Given the description of an element on the screen output the (x, y) to click on. 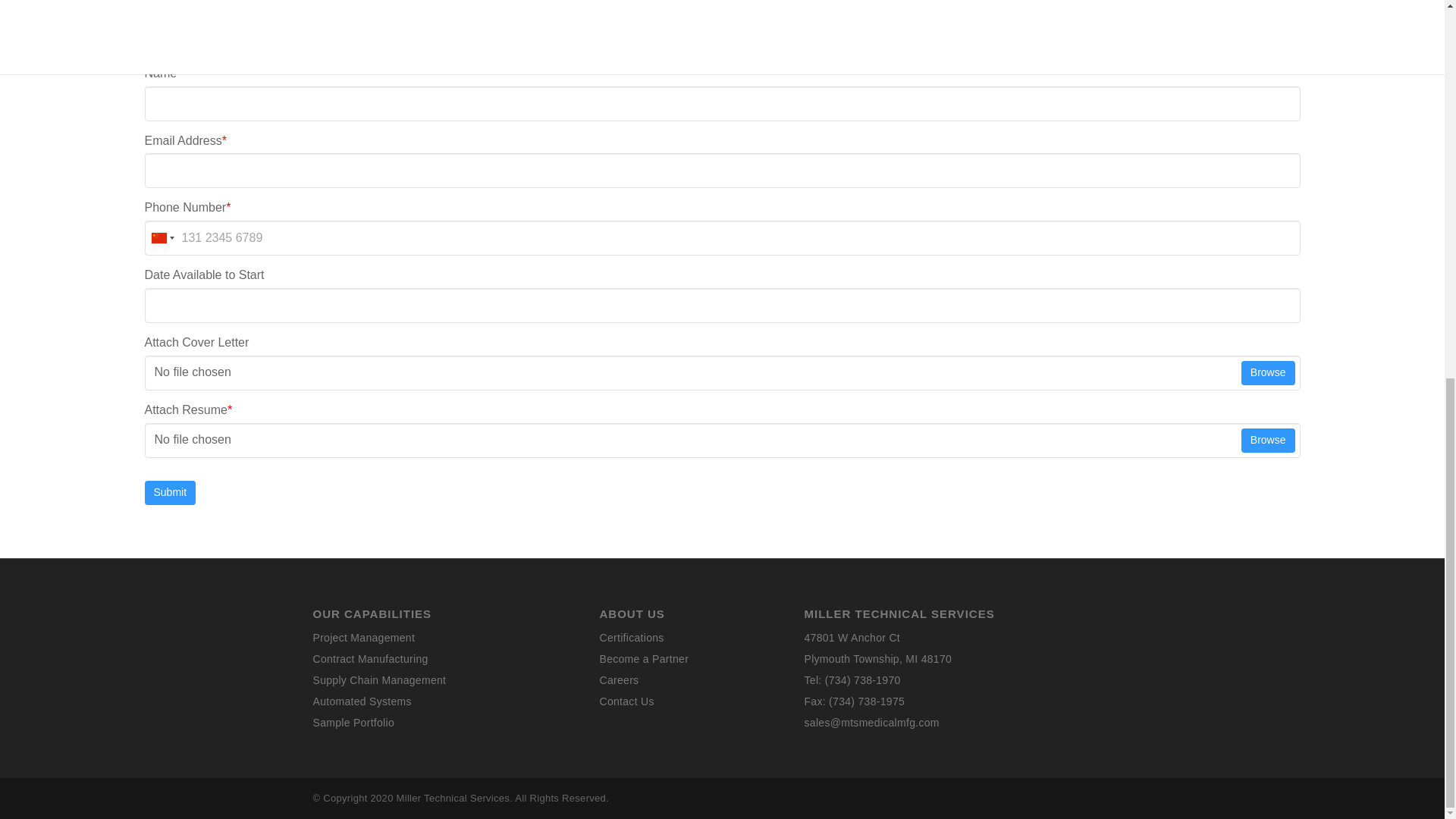
Careers (618, 680)
Project Management (363, 637)
Become a Partner (643, 658)
Automated Systems (361, 701)
Contract Manufacturing (370, 658)
Certifications (630, 637)
Submit (169, 492)
Sample Portfolio (353, 722)
Contact Us (625, 701)
